Given the description of an element on the screen output the (x, y) to click on. 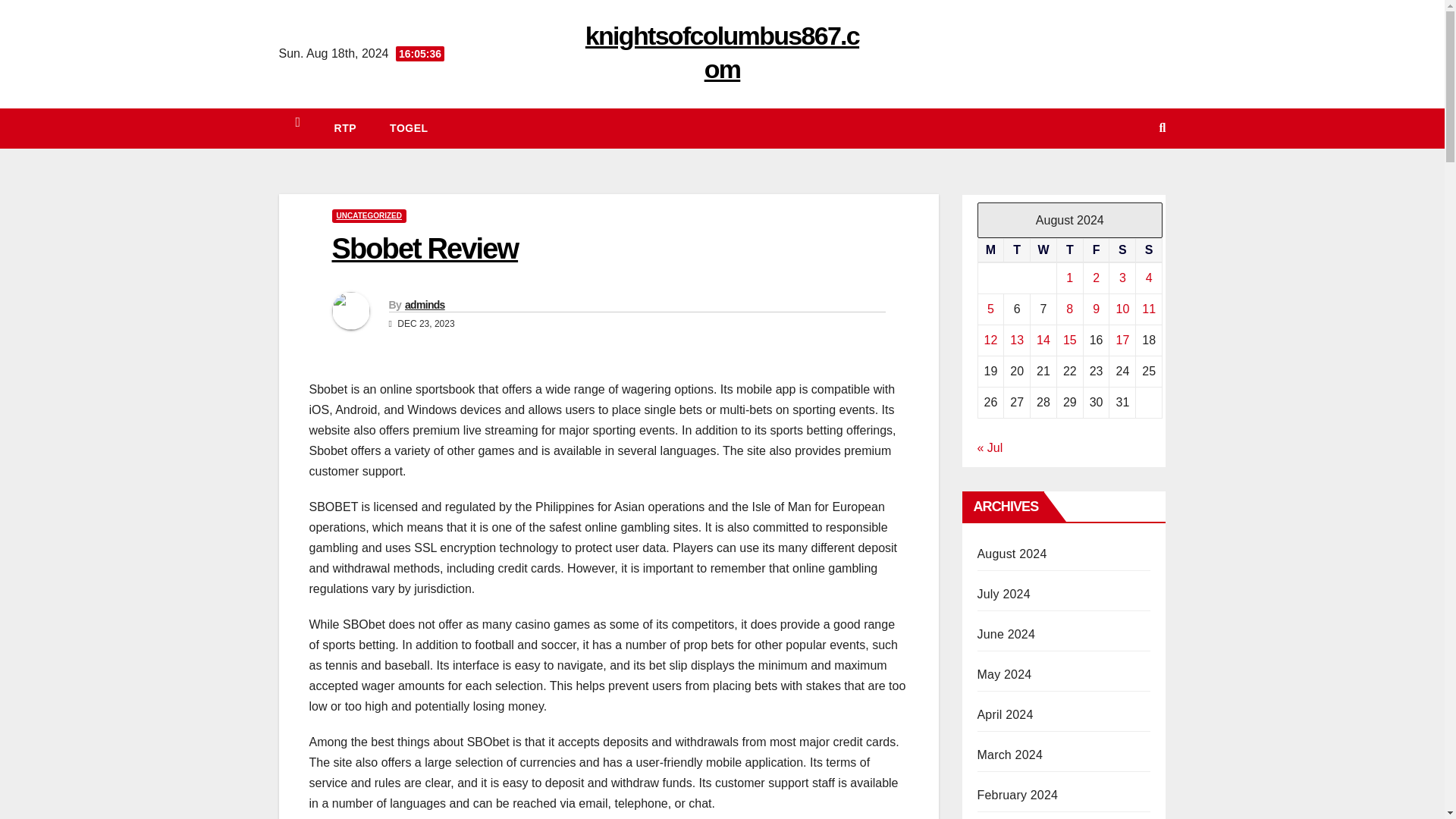
Tuesday (1017, 250)
Saturday (1122, 250)
Friday (1096, 250)
Togel (408, 128)
RTP (345, 128)
Thursday (1070, 250)
RTP (345, 128)
Wednesday (1043, 250)
adminds (424, 304)
Sunday (1148, 250)
